Given the description of an element on the screen output the (x, y) to click on. 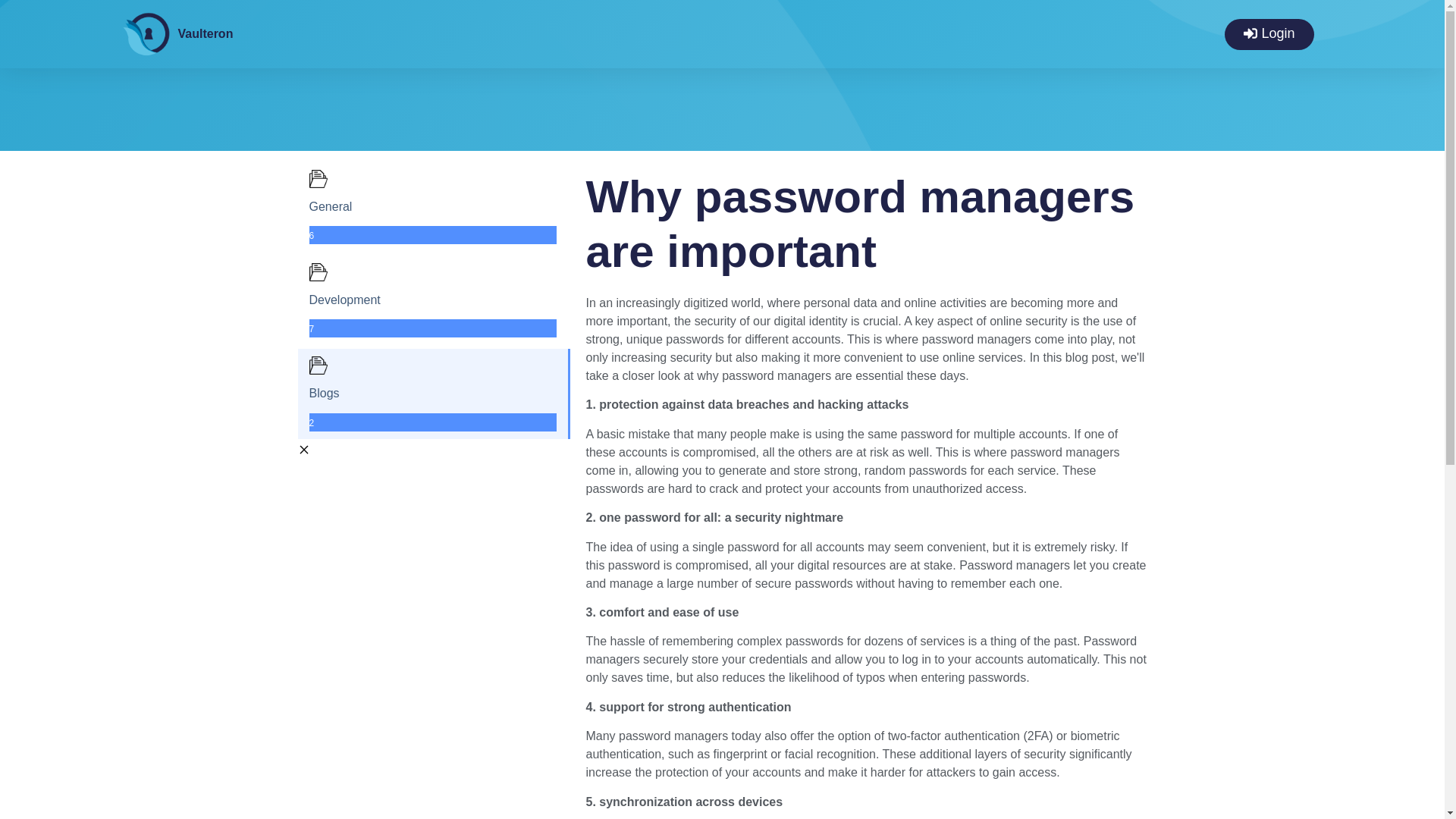
Vaulteron (204, 33)
Login (1268, 33)
